Given the description of an element on the screen output the (x, y) to click on. 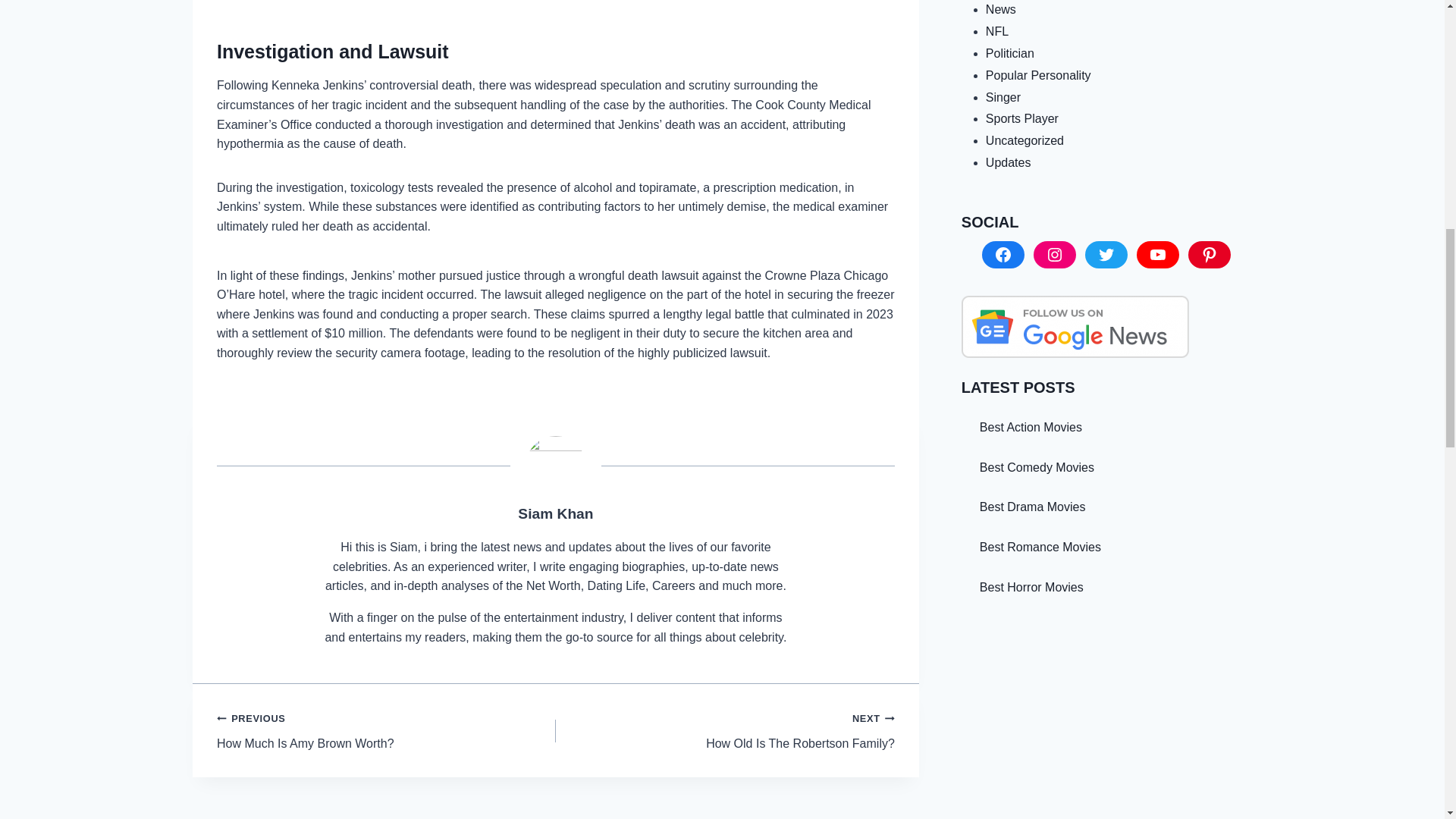
Siam Khan (386, 730)
Advertisement (725, 730)
Posts by Siam Khan (555, 513)
